Given the description of an element on the screen output the (x, y) to click on. 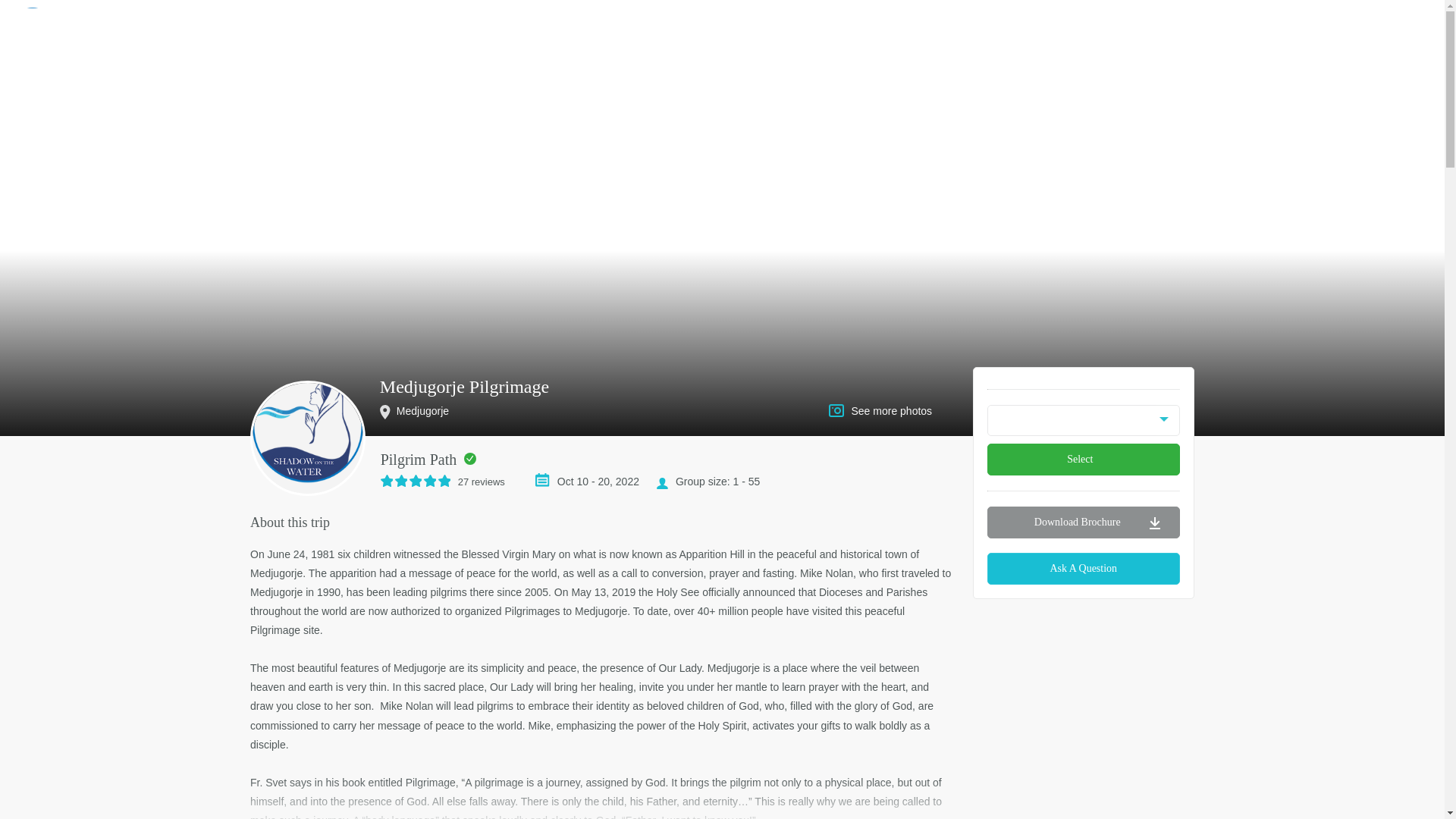
Pilgrim Path (418, 459)
Select (1083, 459)
Download Brochure (1083, 522)
See more photos (890, 410)
Ask A Question (1083, 568)
27 reviews (449, 481)
